Given the description of an element on the screen output the (x, y) to click on. 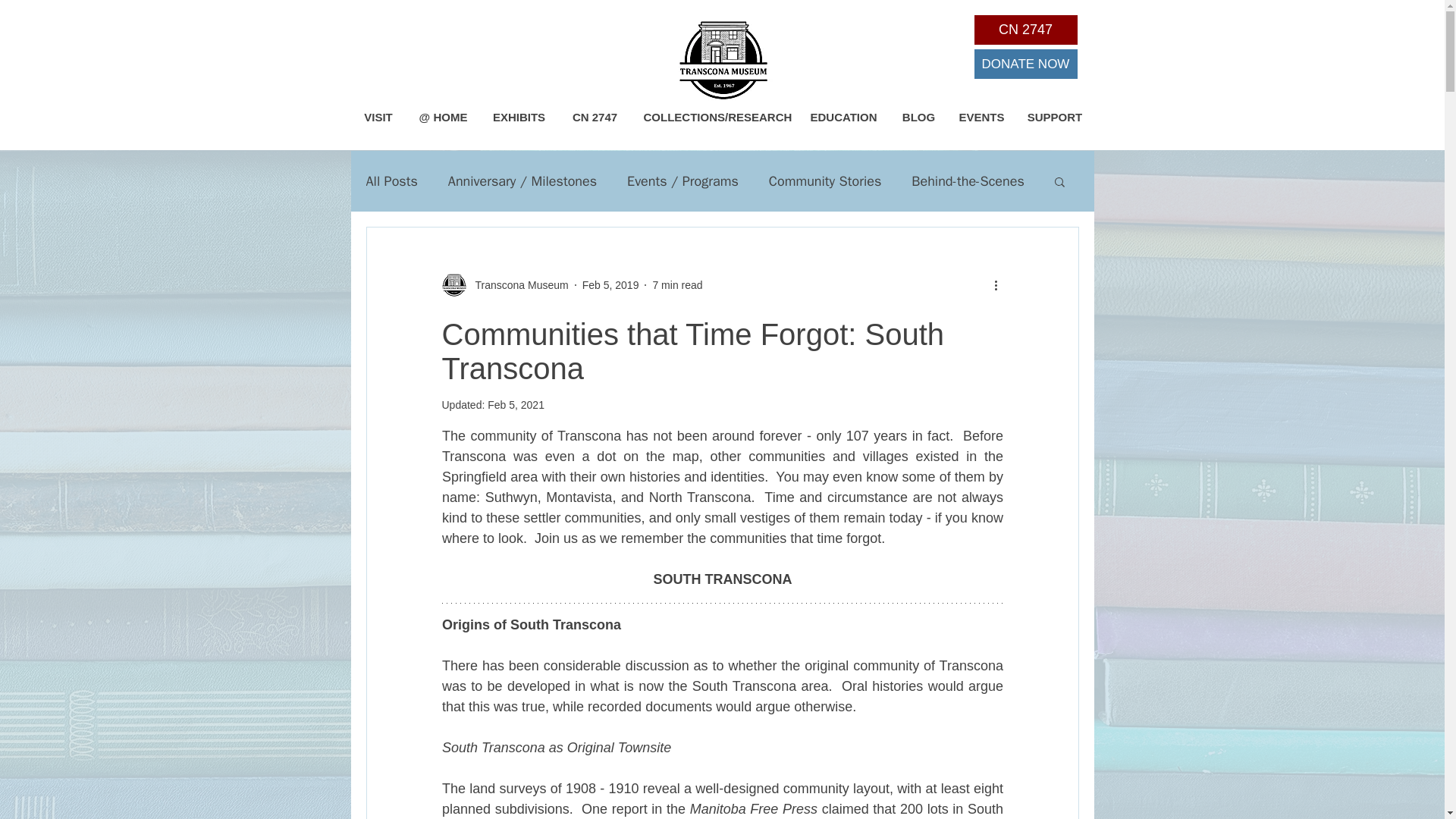
DONATE NOW (1025, 63)
7 min read (676, 285)
Transcona Museum (516, 285)
Feb 5, 2021 (515, 404)
CN 2747 (1025, 30)
Feb 5, 2019 (610, 285)
BLOG (918, 116)
Community Stories (824, 180)
All Posts (390, 180)
